Given the description of an element on the screen output the (x, y) to click on. 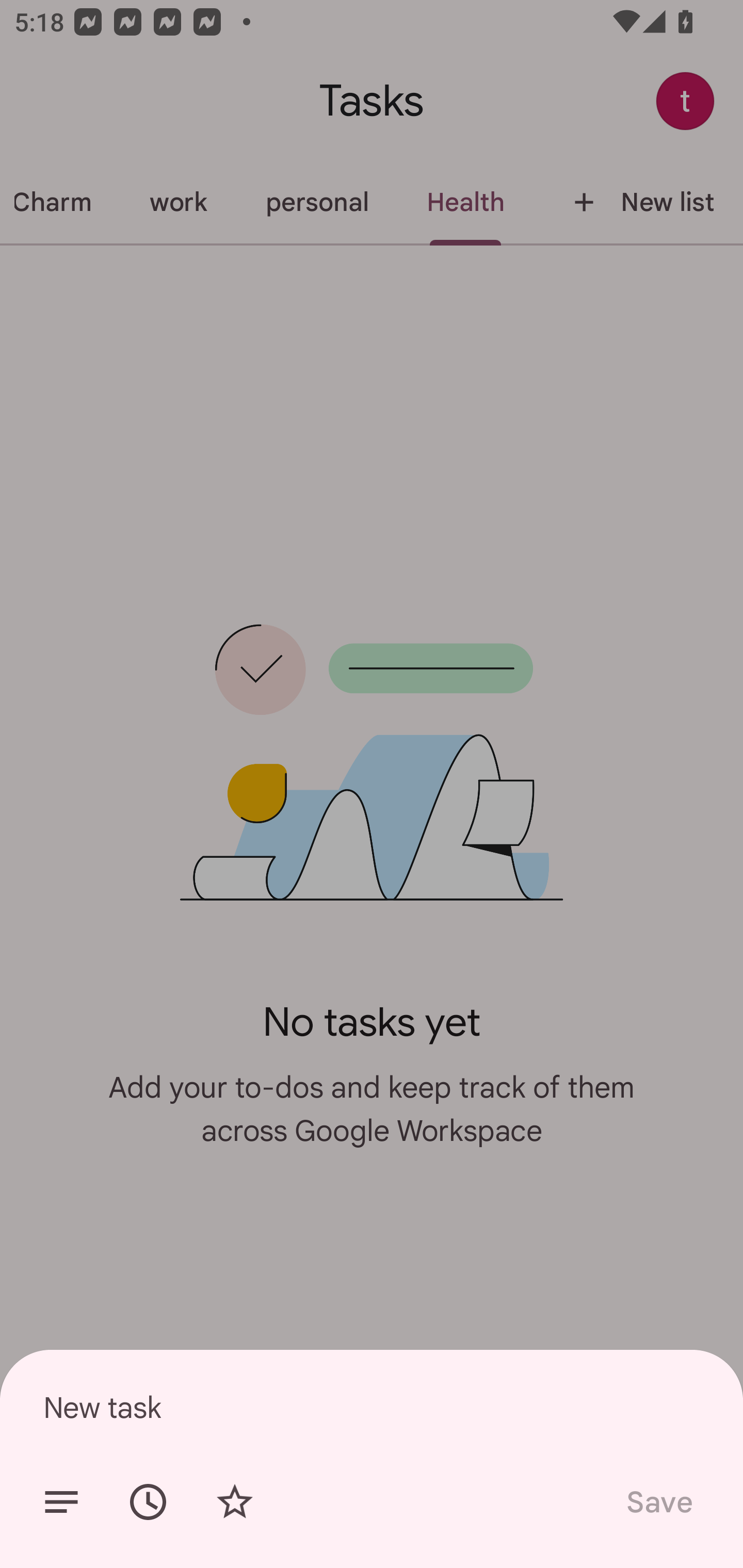
New task (371, 1407)
Save (659, 1501)
Add details (60, 1501)
Set date/time (147, 1501)
Add star (234, 1501)
